Given the description of an element on the screen output the (x, y) to click on. 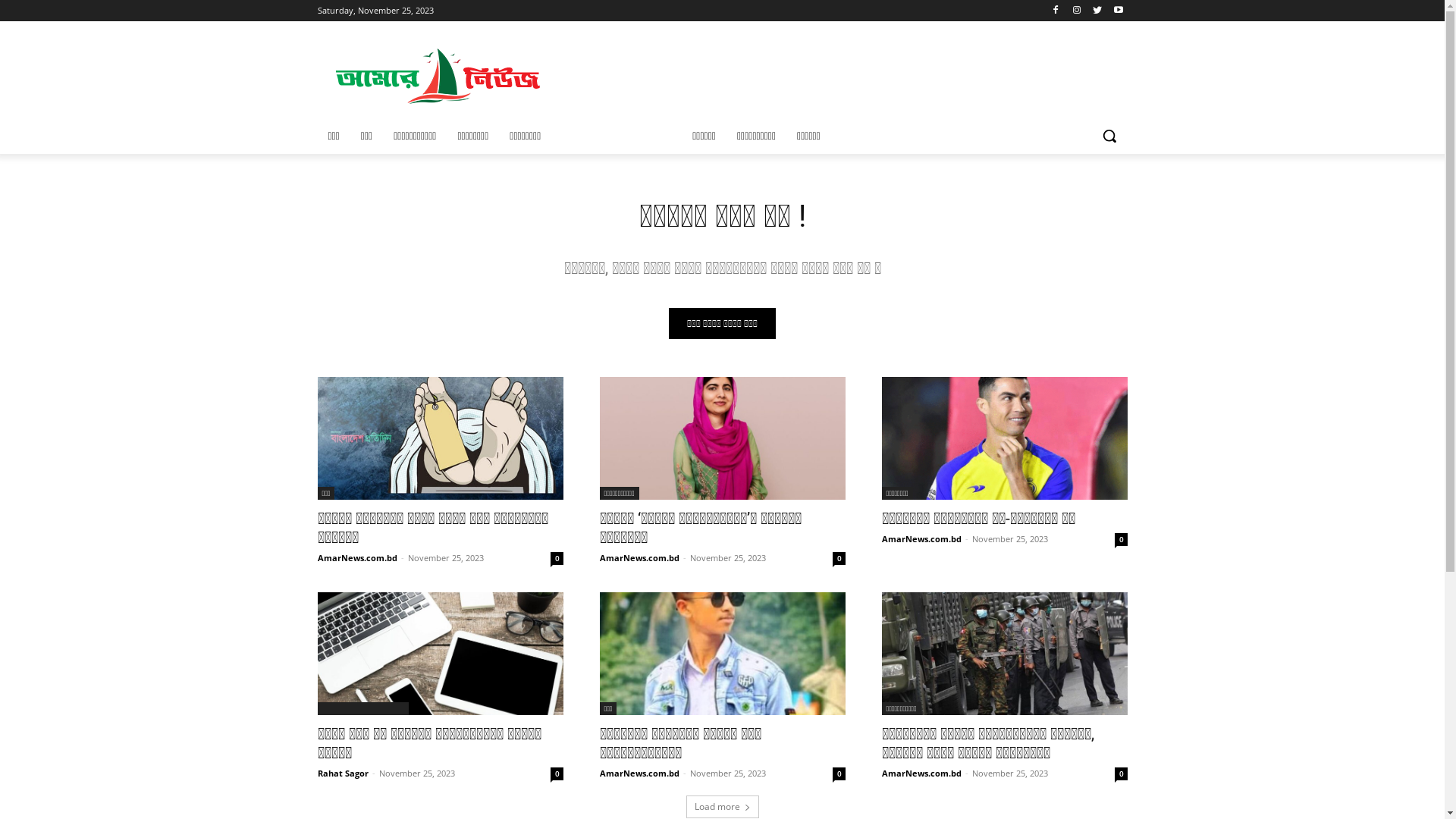
AmarNews.com.bd Element type: text (920, 538)
0 Element type: text (838, 558)
Rahat Sagor Element type: text (341, 772)
AmarNews.com.bd Element type: text (356, 557)
0 Element type: text (556, 773)
AmarNews.com.bd Element type: hover (438, 76)
0 Element type: text (838, 773)
Instagram Element type: hover (1076, 9)
Load more Element type: text (721, 806)
0 Element type: text (1120, 539)
AmarNews.com.bd Element type: text (920, 772)
0 Element type: text (556, 558)
0 Element type: text (1120, 773)
Youtube Element type: hover (1118, 9)
Twitter Element type: hover (1097, 9)
AmarNews.com.bd Element type: text (638, 557)
AmarNews.com.bd Element type: text (638, 772)
Facebook Element type: hover (1054, 9)
